Given the description of an element on the screen output the (x, y) to click on. 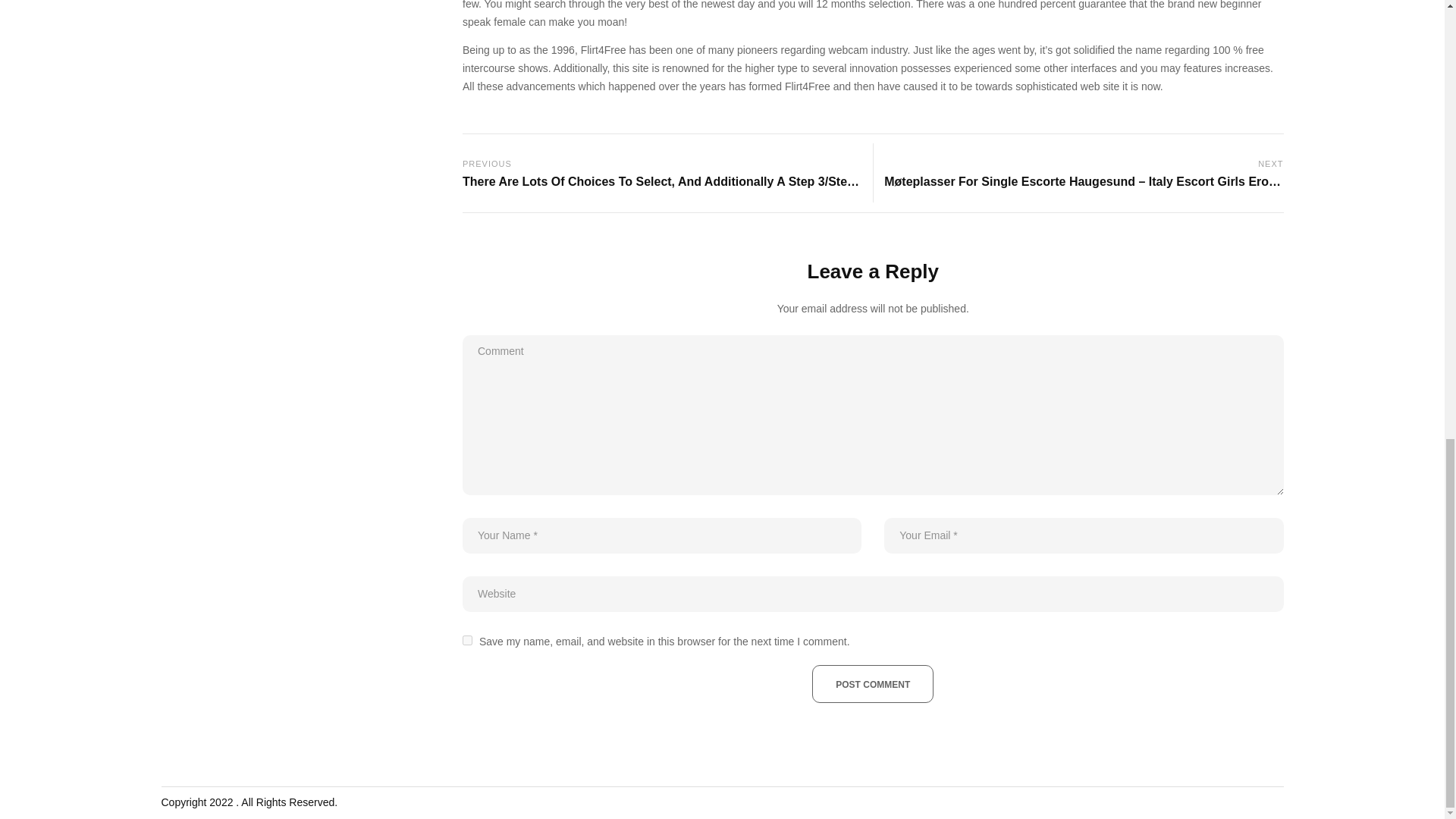
yes (467, 640)
Post Comment (872, 683)
Post Comment (872, 683)
